Given the description of an element on the screen output the (x, y) to click on. 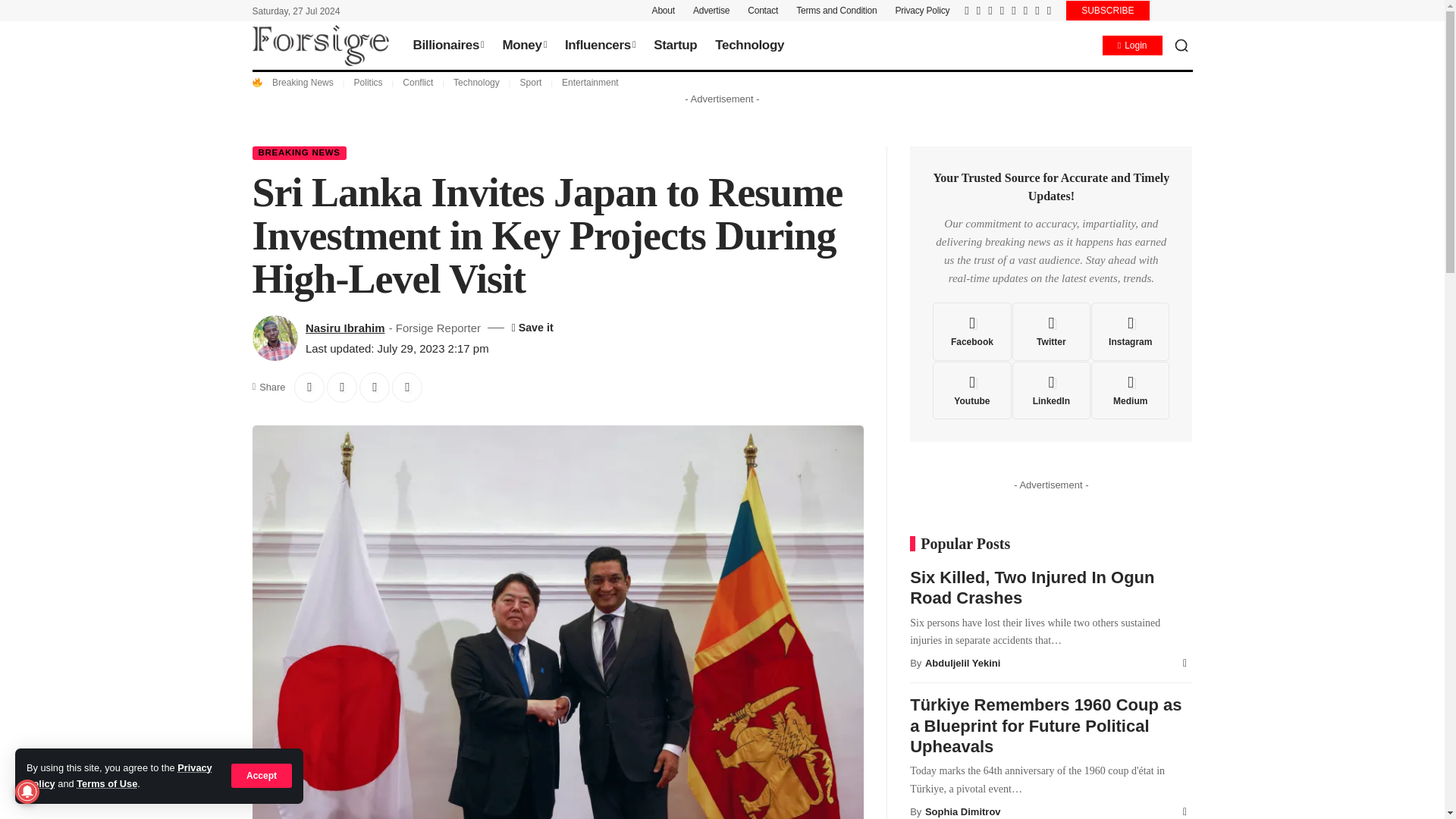
Accept (261, 775)
Privacy Policy (119, 775)
Money (523, 45)
Terms and Condition (836, 10)
SUBSCRIBE (1106, 10)
Privacy Policy (922, 10)
Contact (762, 10)
About (663, 10)
Terms of Use (106, 783)
Billionaires (448, 45)
Advertise (711, 10)
